Given the description of an element on the screen output the (x, y) to click on. 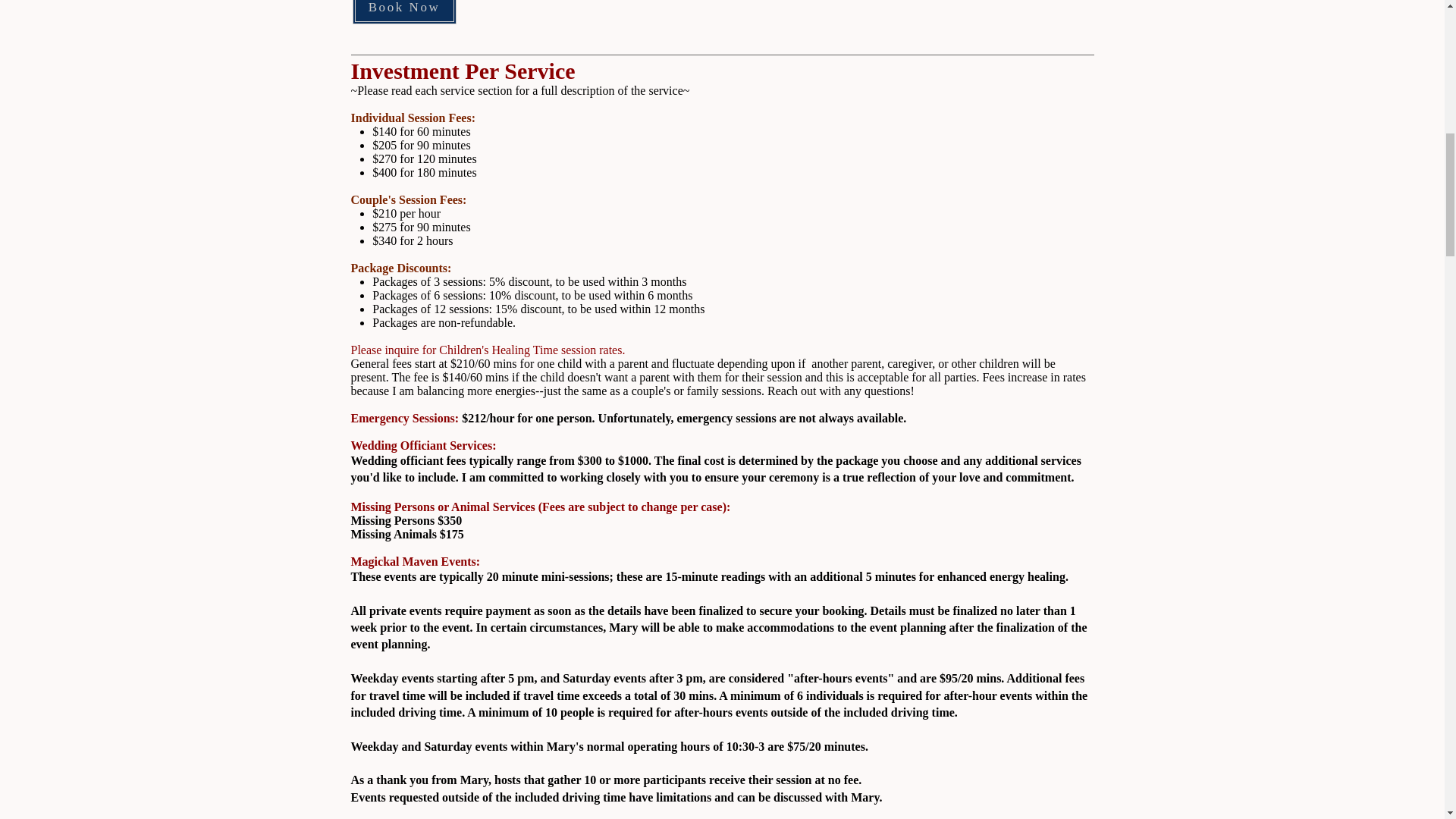
Book Now (403, 12)
